Given the description of an element on the screen output the (x, y) to click on. 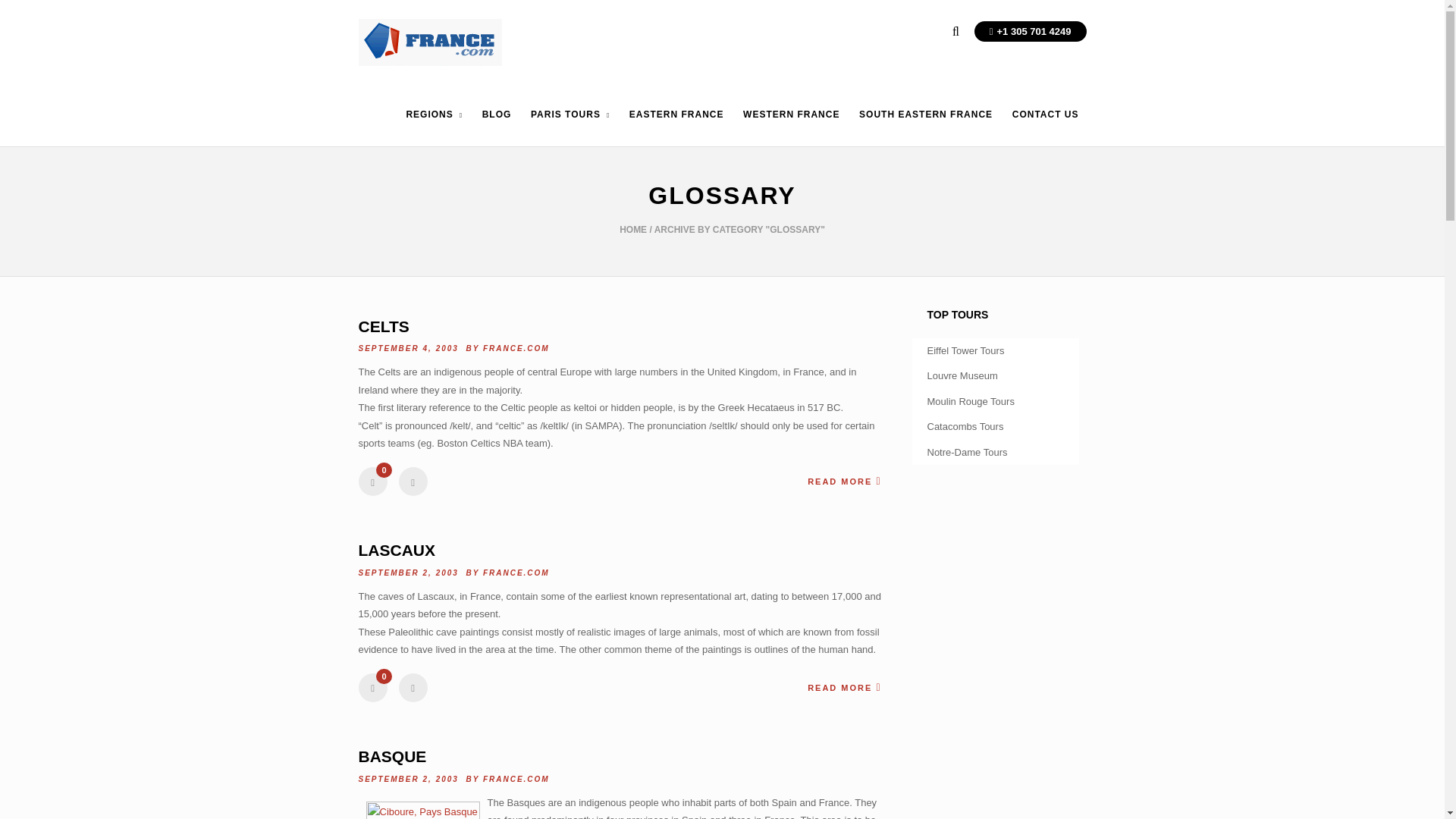
PARIS TOURS (569, 126)
Basque (392, 755)
Lascaux (396, 549)
REGIONS (433, 126)
Celts (383, 325)
BLOG (496, 126)
Ciboure, Pays Basque (422, 810)
